Given the description of an element on the screen output the (x, y) to click on. 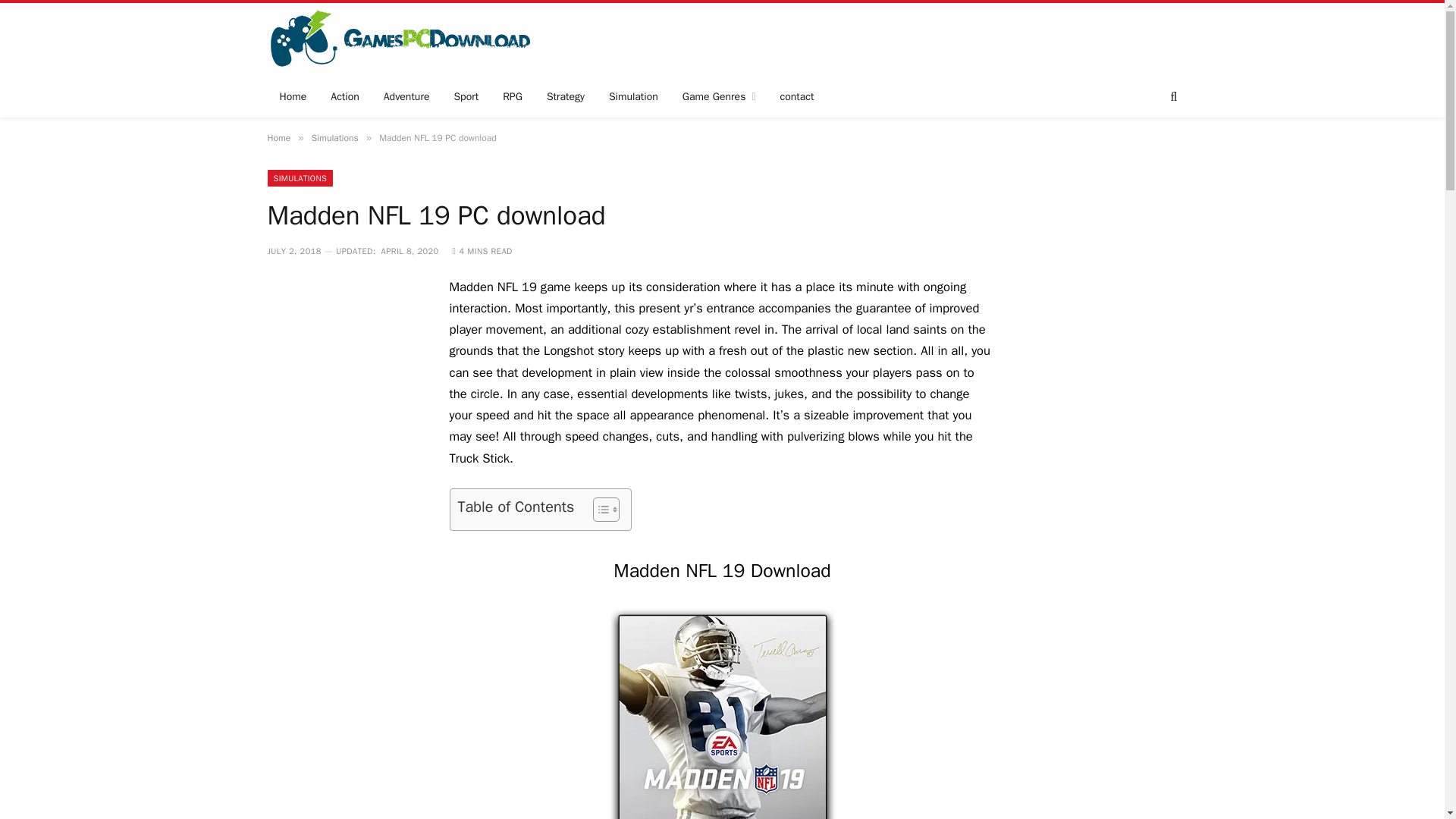
Adventure (406, 96)
Action (344, 96)
RPG (512, 96)
contact (797, 96)
Sport (465, 96)
Simulations (334, 137)
Madden NFL 19 PC download 1 (721, 713)
Simulation (632, 96)
Home (292, 96)
Strategy (565, 96)
